Given the description of an element on the screen output the (x, y) to click on. 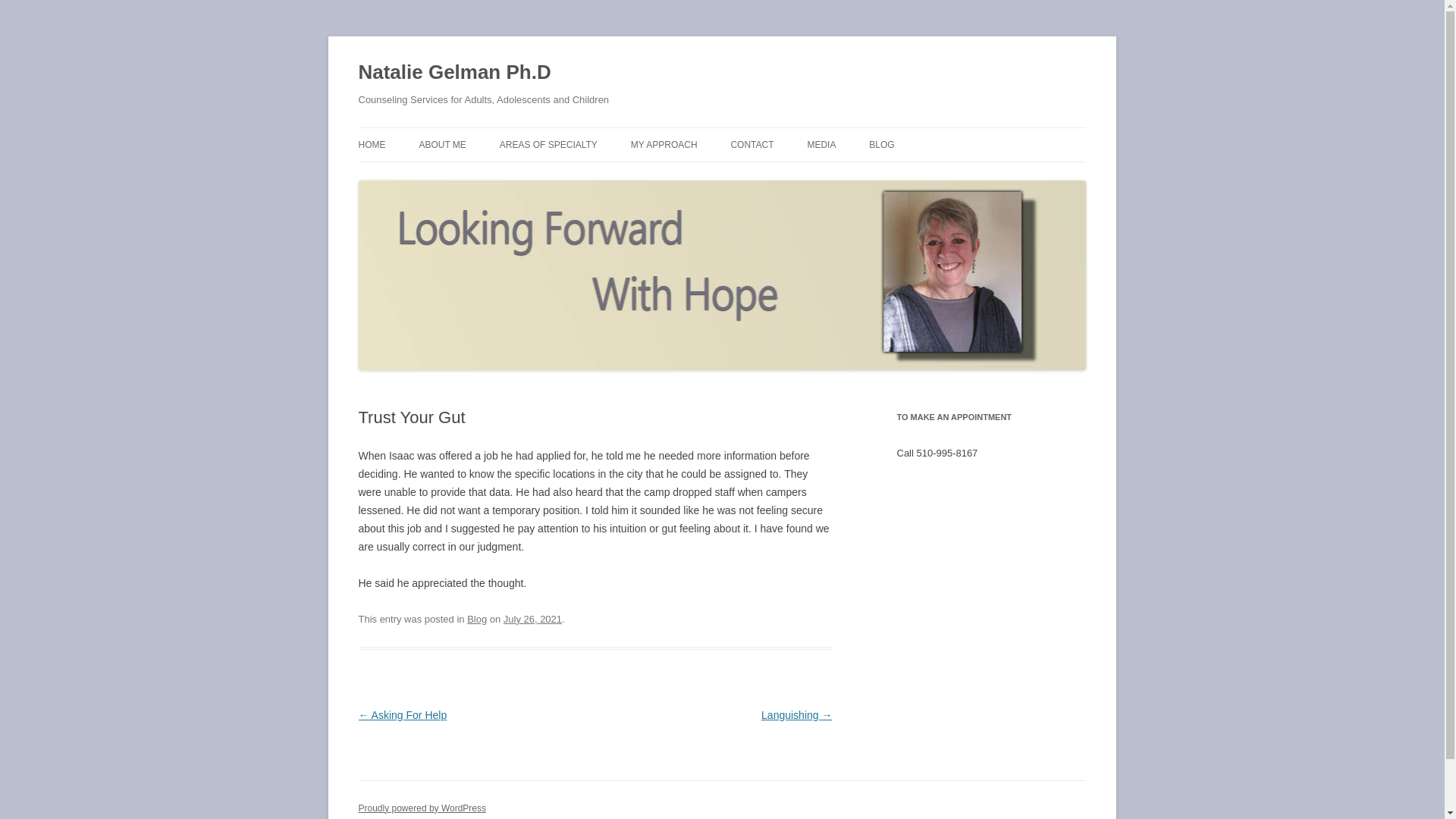
July 26, 2021 (532, 618)
ABOUT ME (442, 144)
Natalie Gelman Ph.D (454, 72)
4:00 am (532, 618)
MY APPROACH (663, 144)
AREAS OF SPECIALTY (547, 144)
CONTACT (751, 144)
Blog (476, 618)
